Given the description of an element on the screen output the (x, y) to click on. 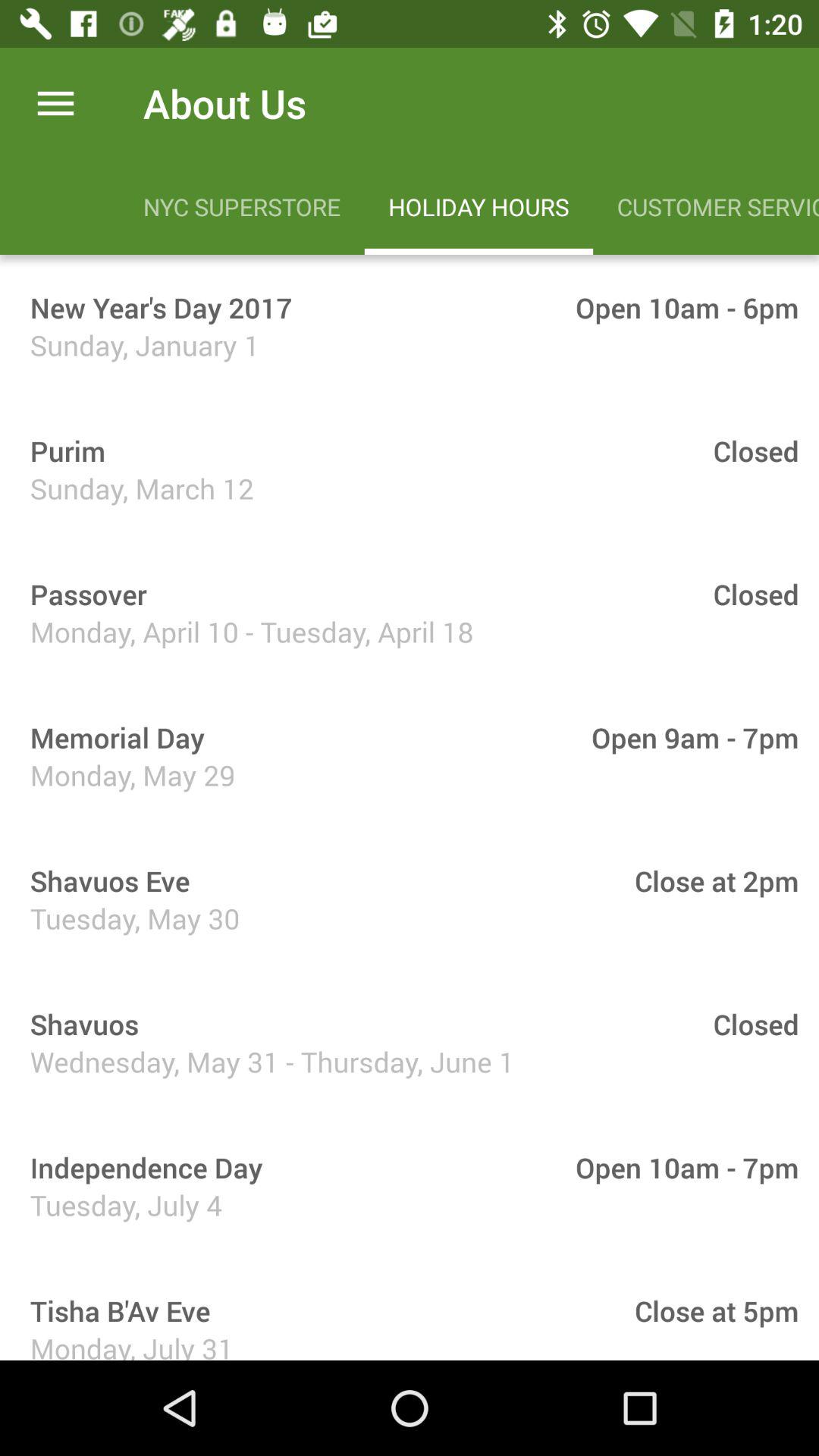
turn off the icon below sunday, march 12 (82, 594)
